Given the description of an element on the screen output the (x, y) to click on. 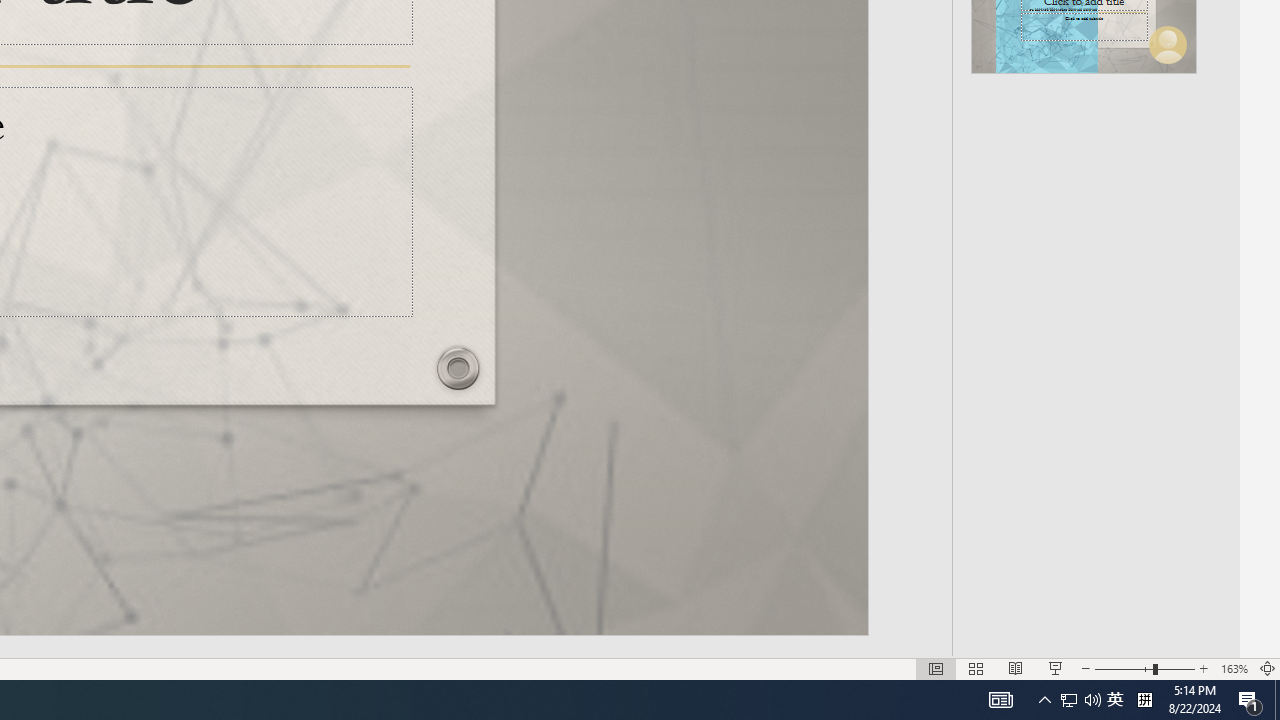
Zoom 163% (1234, 668)
